Given the description of an element on the screen output the (x, y) to click on. 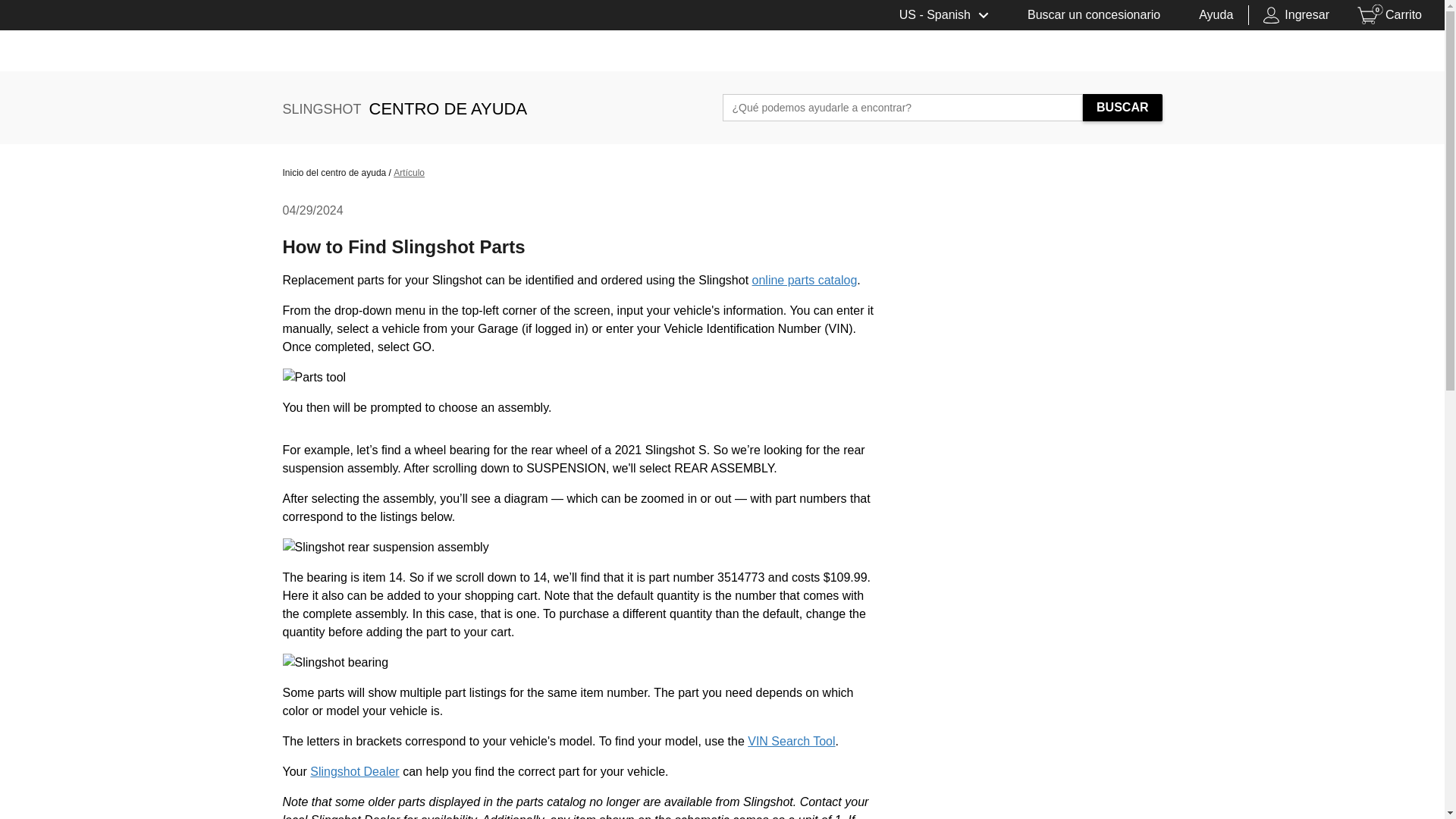
Ayuda (1210, 15)
Ingresar (1295, 15)
US - Spanish (943, 15)
Buscar un concesionario (1390, 15)
0 (1089, 15)
